Given the description of an element on the screen output the (x, y) to click on. 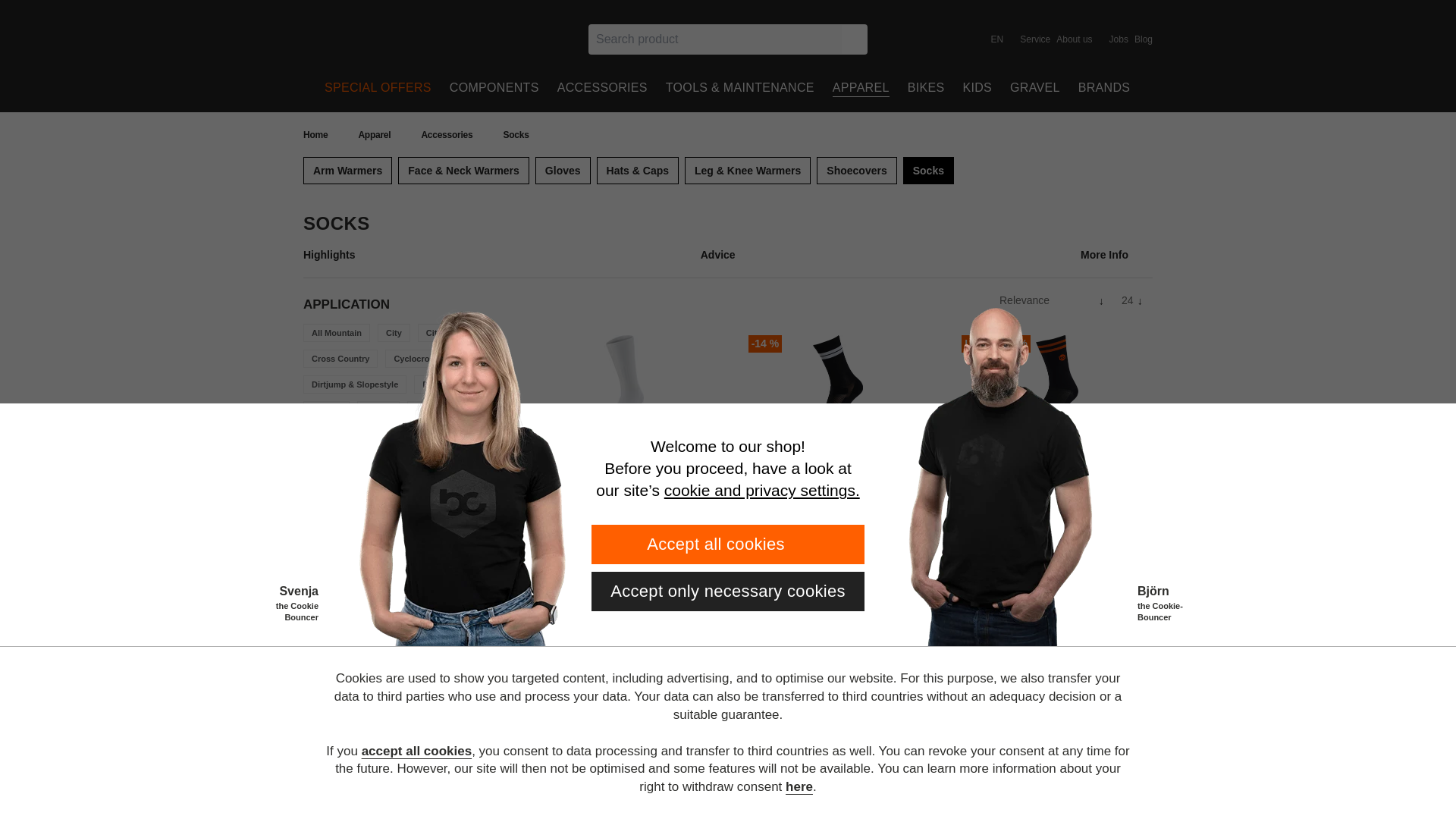
Watchlist (1112, 87)
yellow (335, 569)
red (481, 544)
green (384, 544)
COMPONENTS (493, 87)
Service (1034, 39)
brown (360, 544)
blue (335, 544)
multicolour (433, 544)
black (311, 544)
Login (1083, 87)
Shopping cart (1143, 87)
white (311, 569)
purple (456, 544)
SPECIAL OFFERS (377, 87)
